Given the description of an element on the screen output the (x, y) to click on. 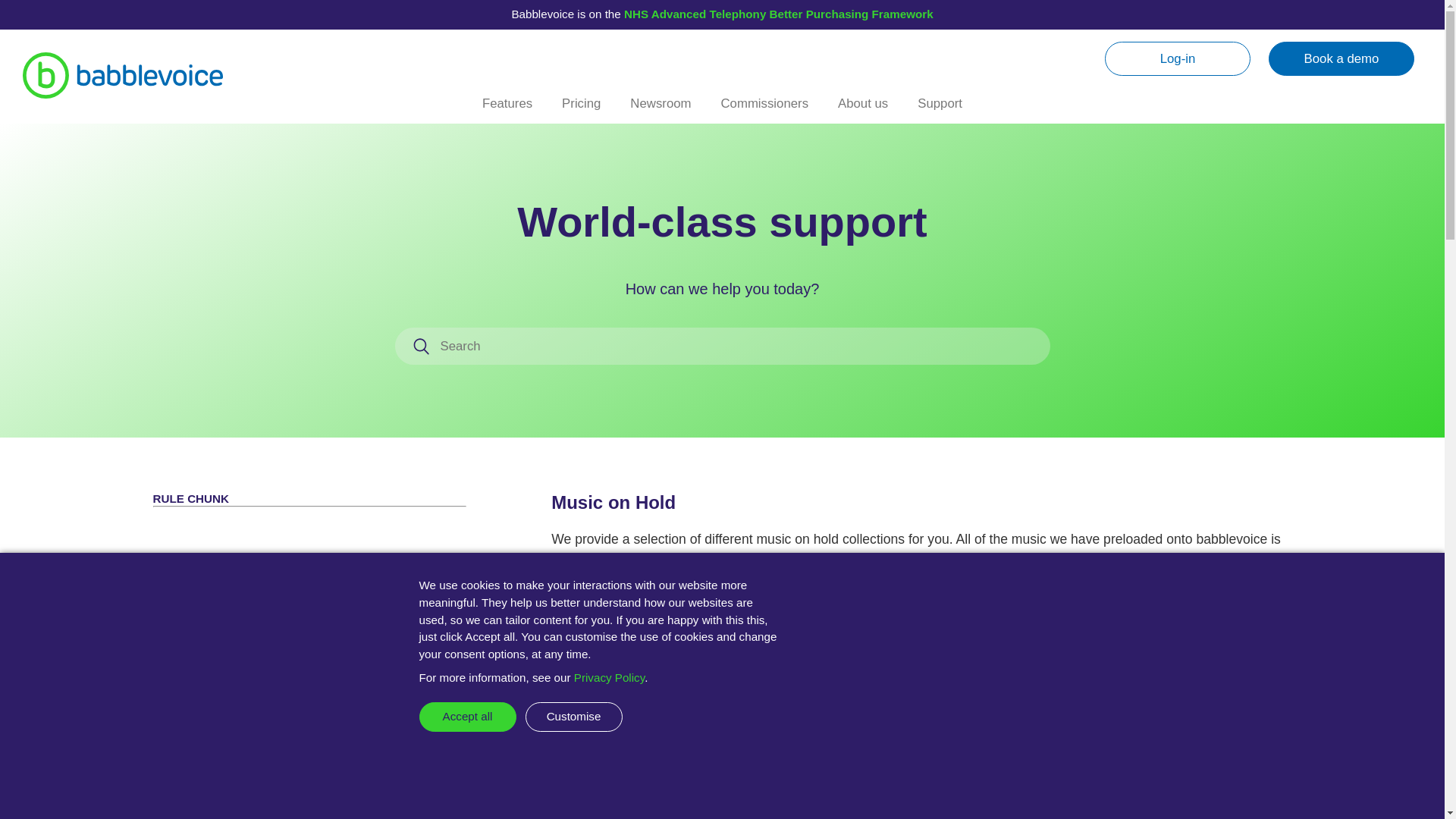
Newsroom (660, 109)
Book a demo (1340, 58)
Support (939, 109)
Features (507, 109)
Commissioners (763, 109)
Log-in (1177, 58)
About us (862, 109)
Pricing (581, 109)
